Given the description of an element on the screen output the (x, y) to click on. 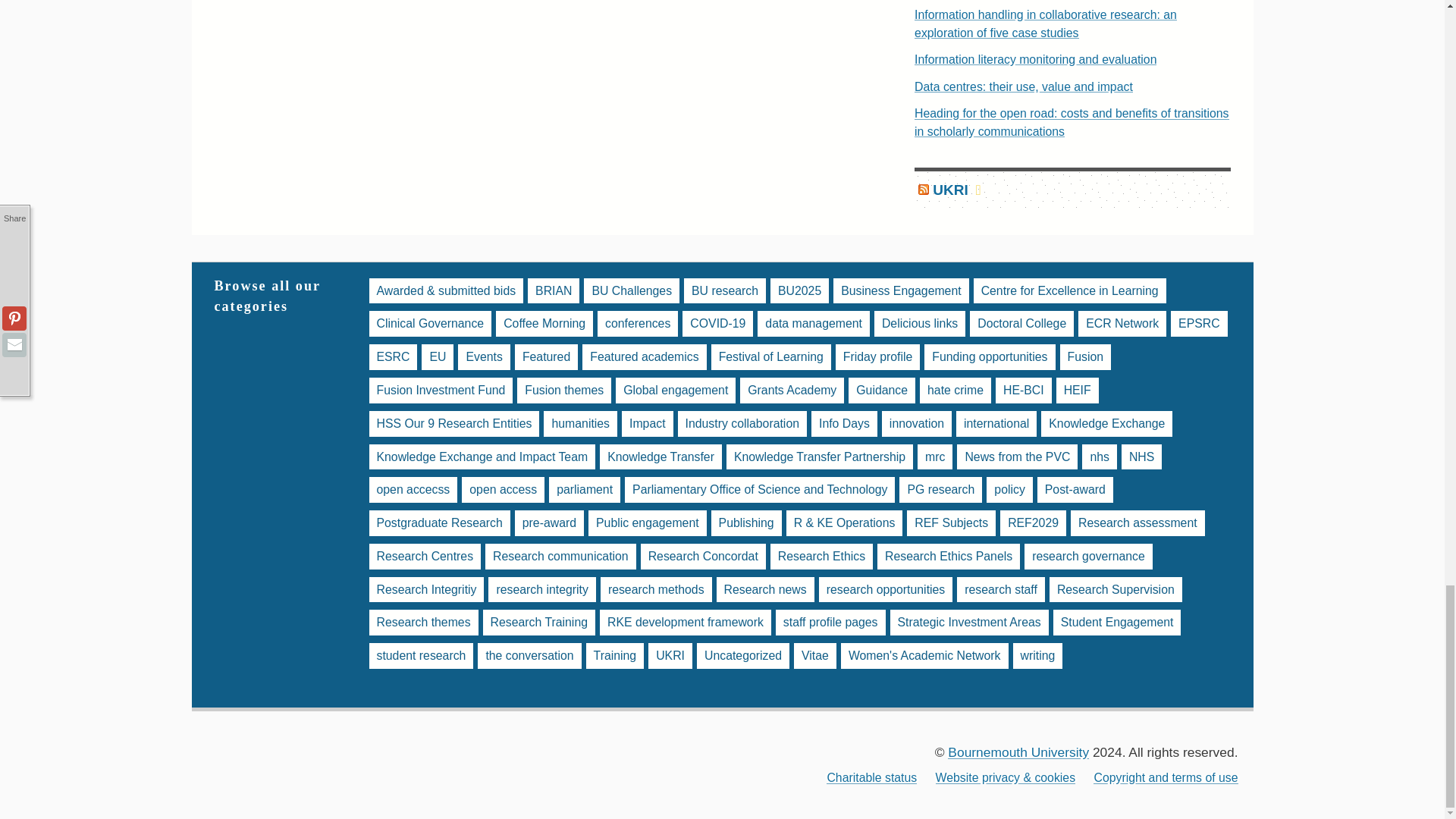
Bournemouth University homepage (1018, 752)
